Given the description of an element on the screen output the (x, y) to click on. 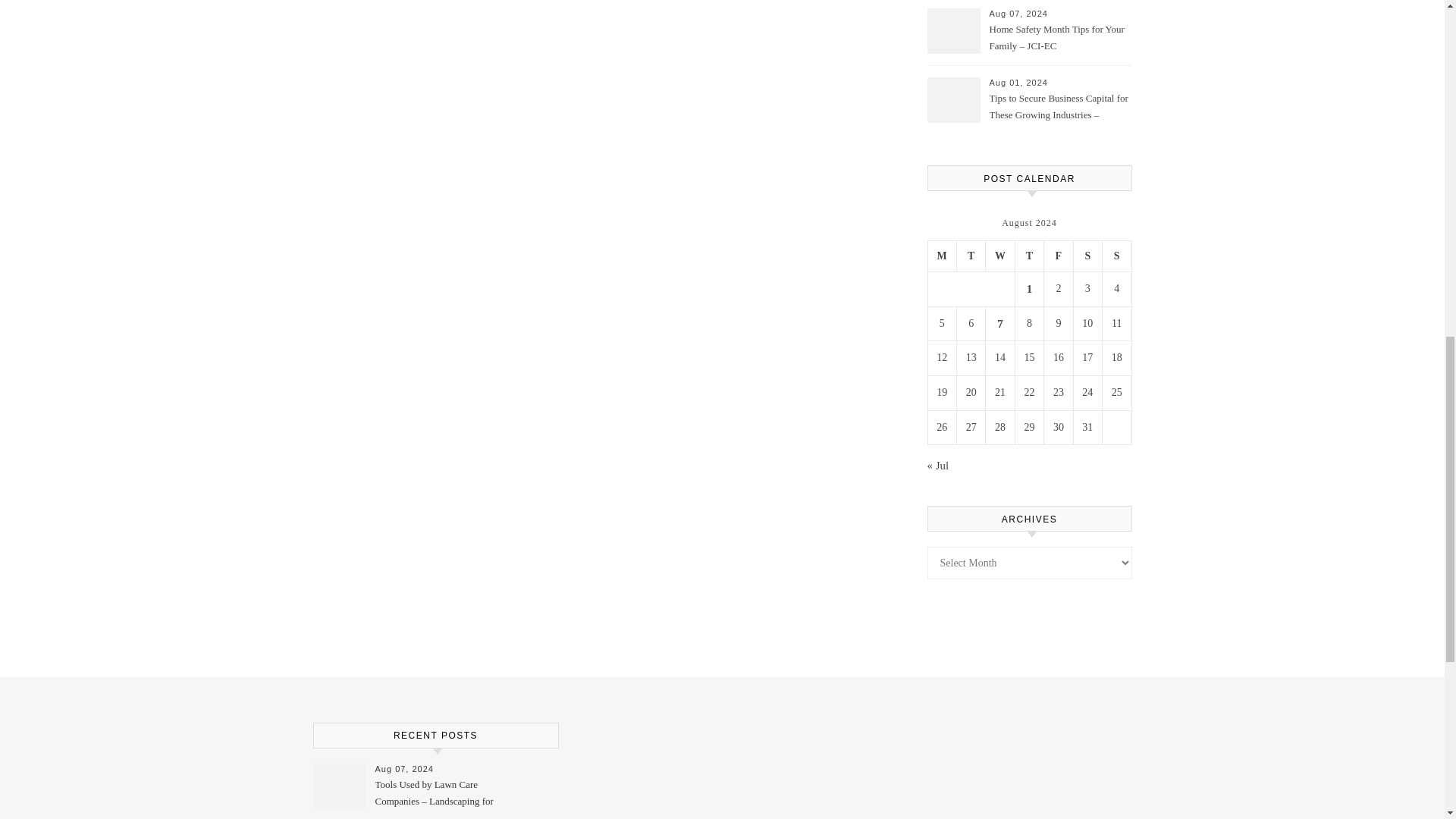
Monday (941, 255)
Sunday (1116, 255)
Thursday (1028, 255)
Friday (1058, 255)
Saturday (1087, 255)
Tuesday (970, 255)
Wednesday (999, 255)
